Given the description of an element on the screen output the (x, y) to click on. 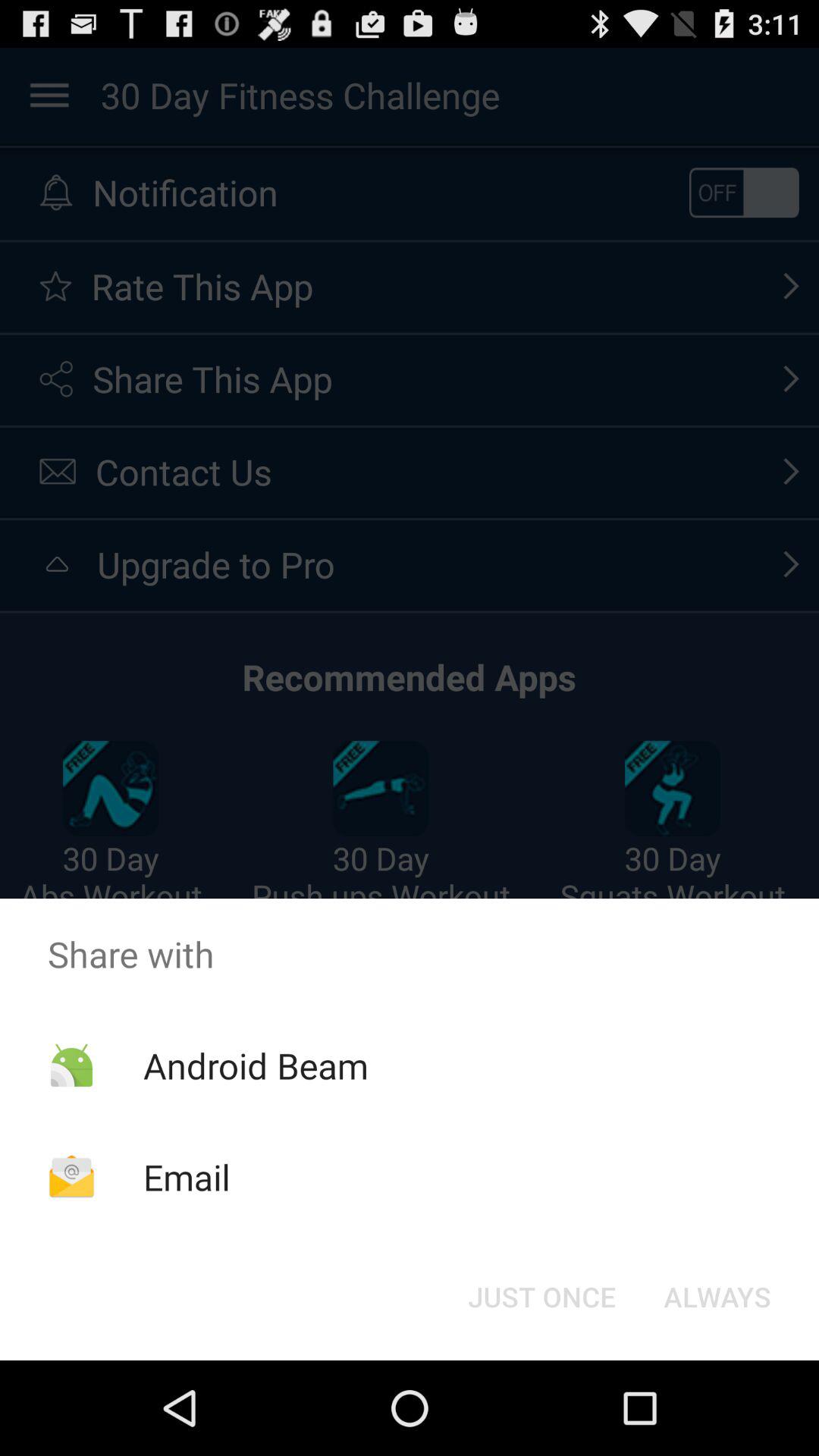
open item above email icon (255, 1065)
